Given the description of an element on the screen output the (x, y) to click on. 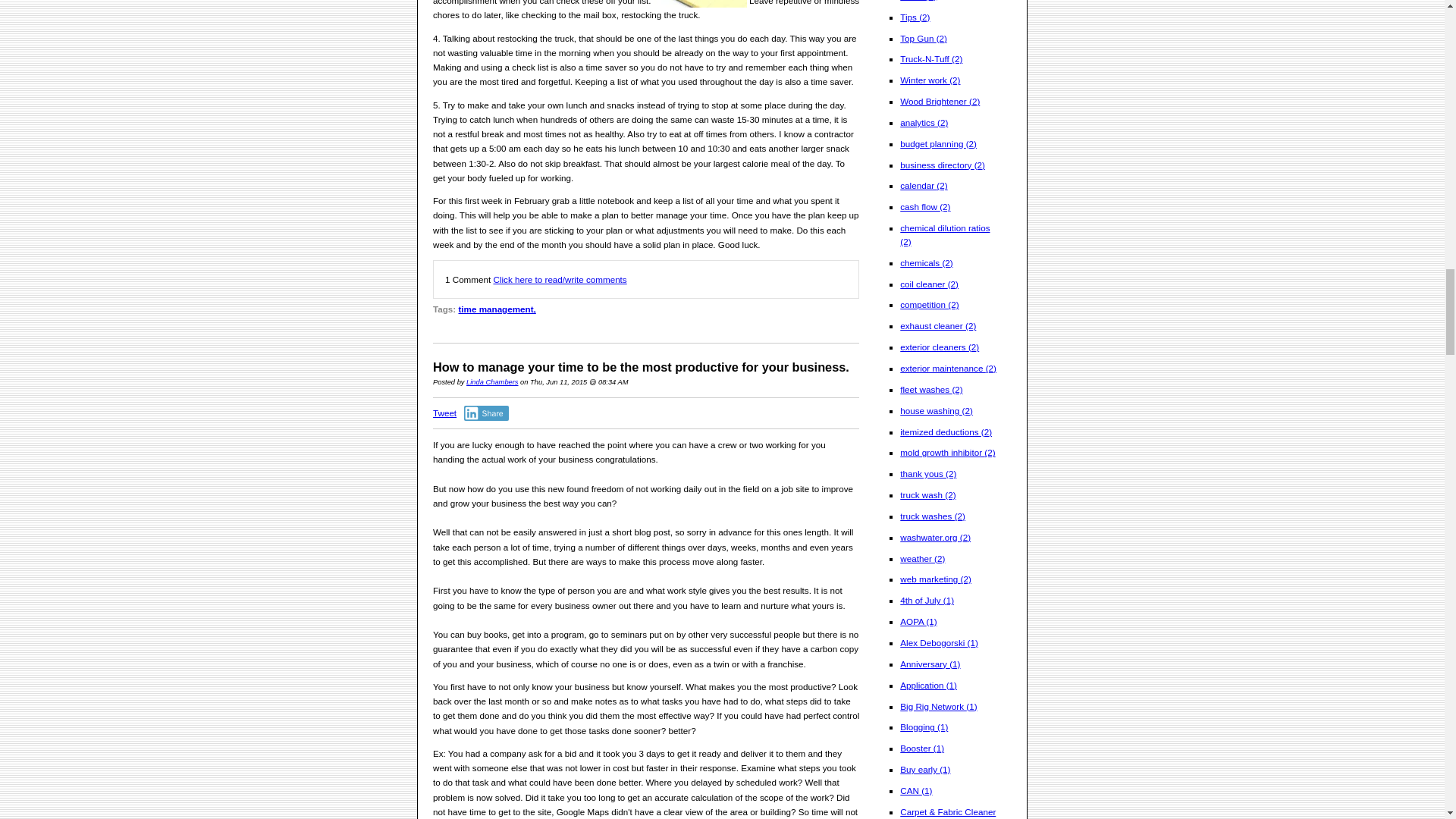
Tweet (444, 412)
time management, (496, 308)
Share (486, 412)
Linda Chambers (491, 381)
